Given the description of an element on the screen output the (x, y) to click on. 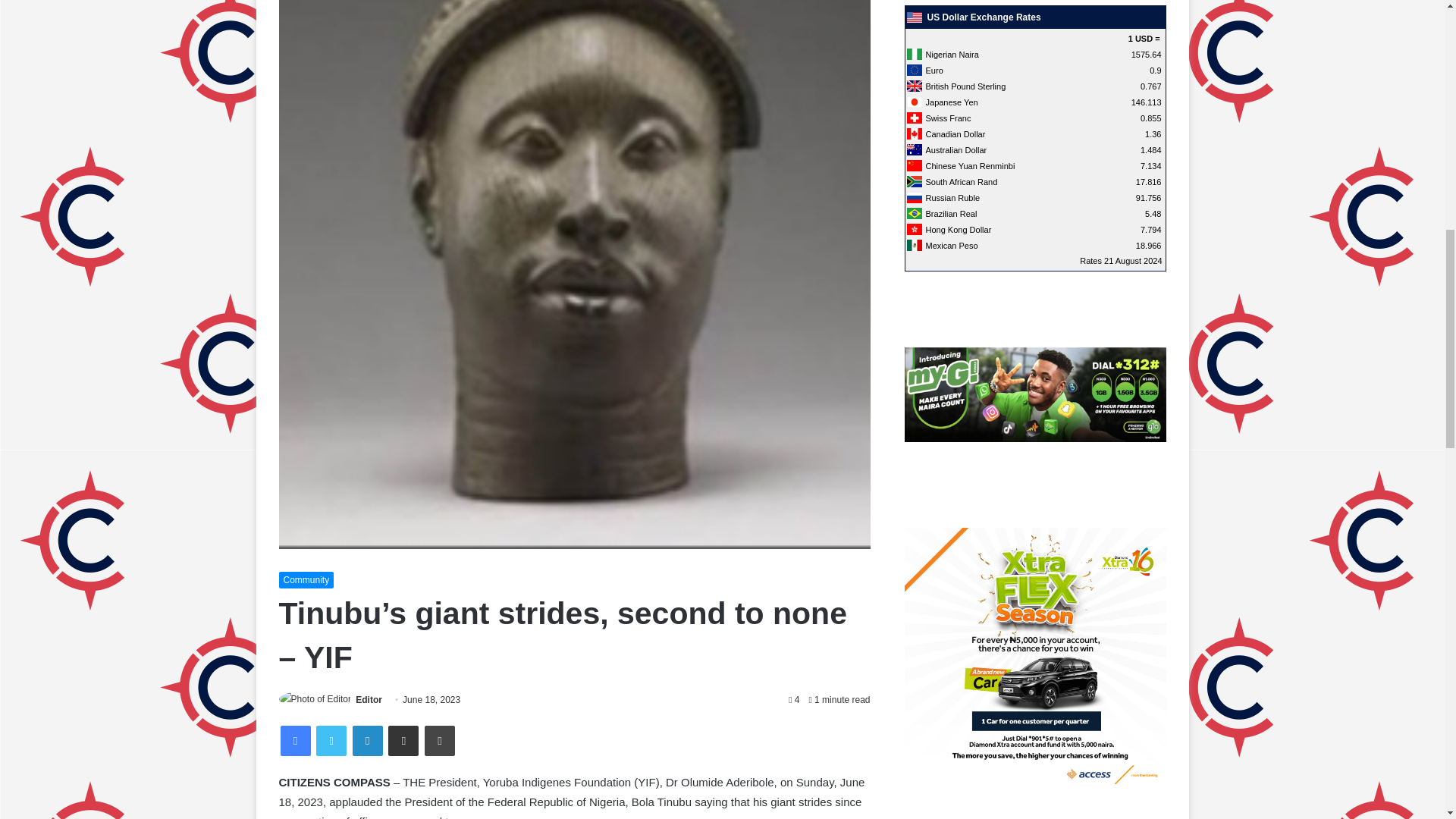
Facebook (296, 740)
Editor (368, 699)
Twitter (330, 740)
Twitter (330, 740)
Print (439, 740)
LinkedIn (367, 740)
Print (439, 740)
Editor (368, 699)
LinkedIn (367, 740)
Facebook (296, 740)
